Given the description of an element on the screen output the (x, y) to click on. 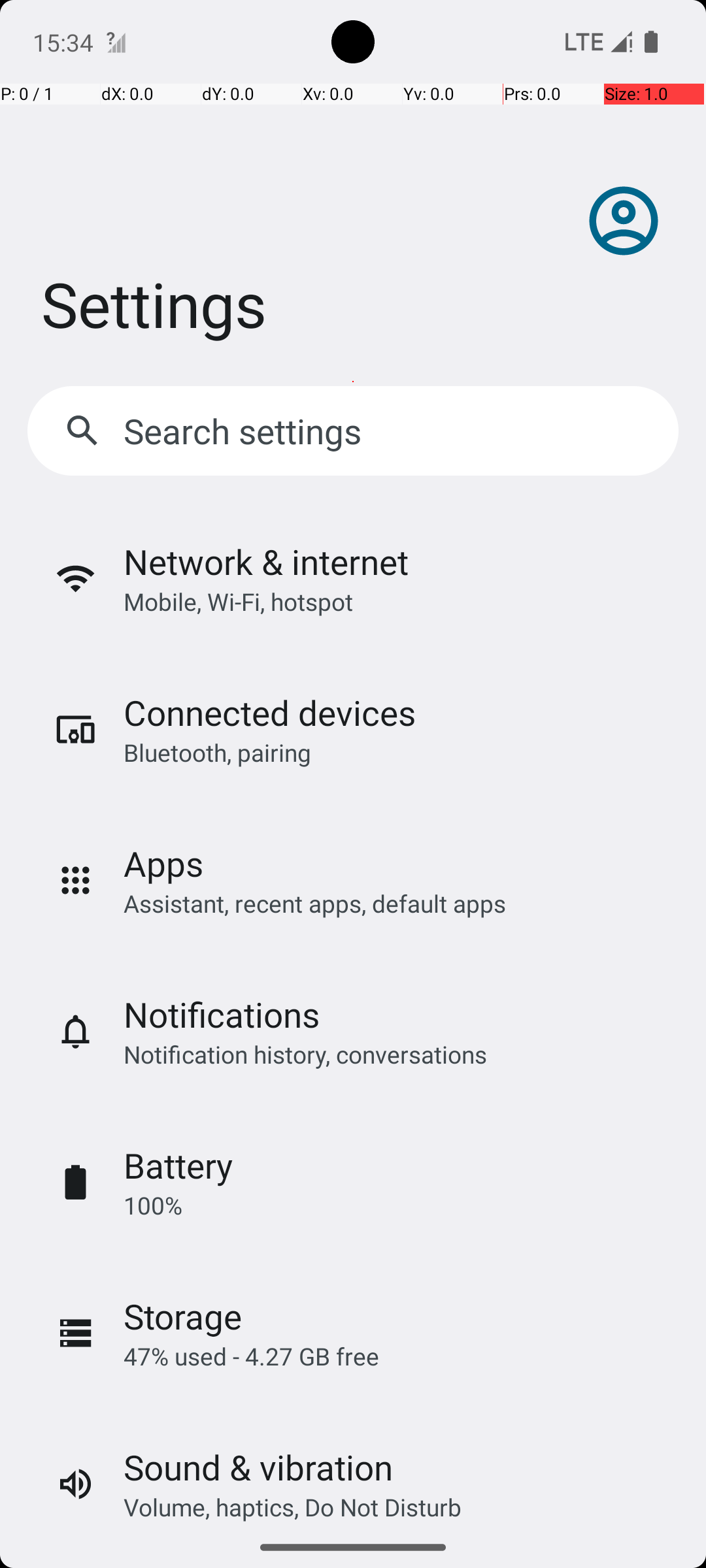
47% used - 4.27 GB free Element type: android.widget.TextView (251, 1355)
